Given the description of an element on the screen output the (x, y) to click on. 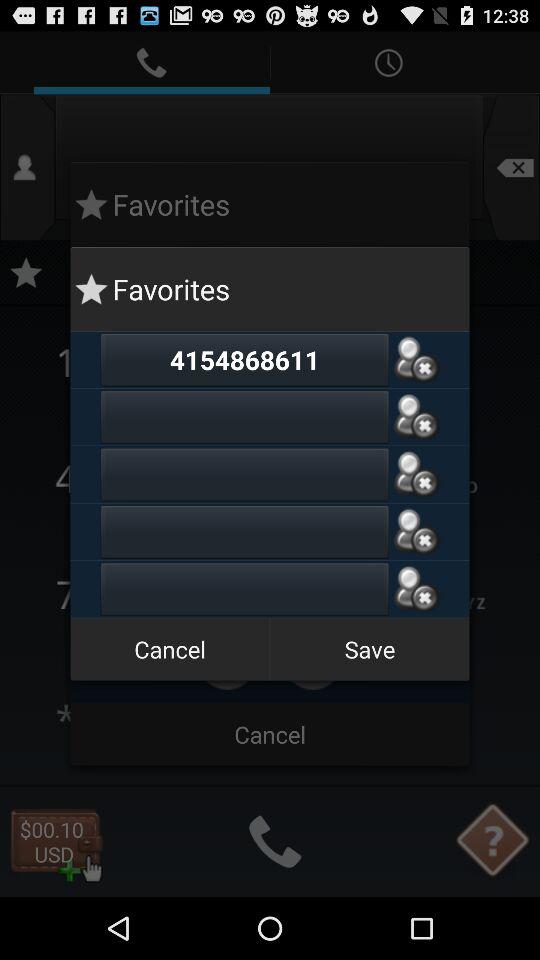
add number to favourites (416, 416)
